Given the description of an element on the screen output the (x, y) to click on. 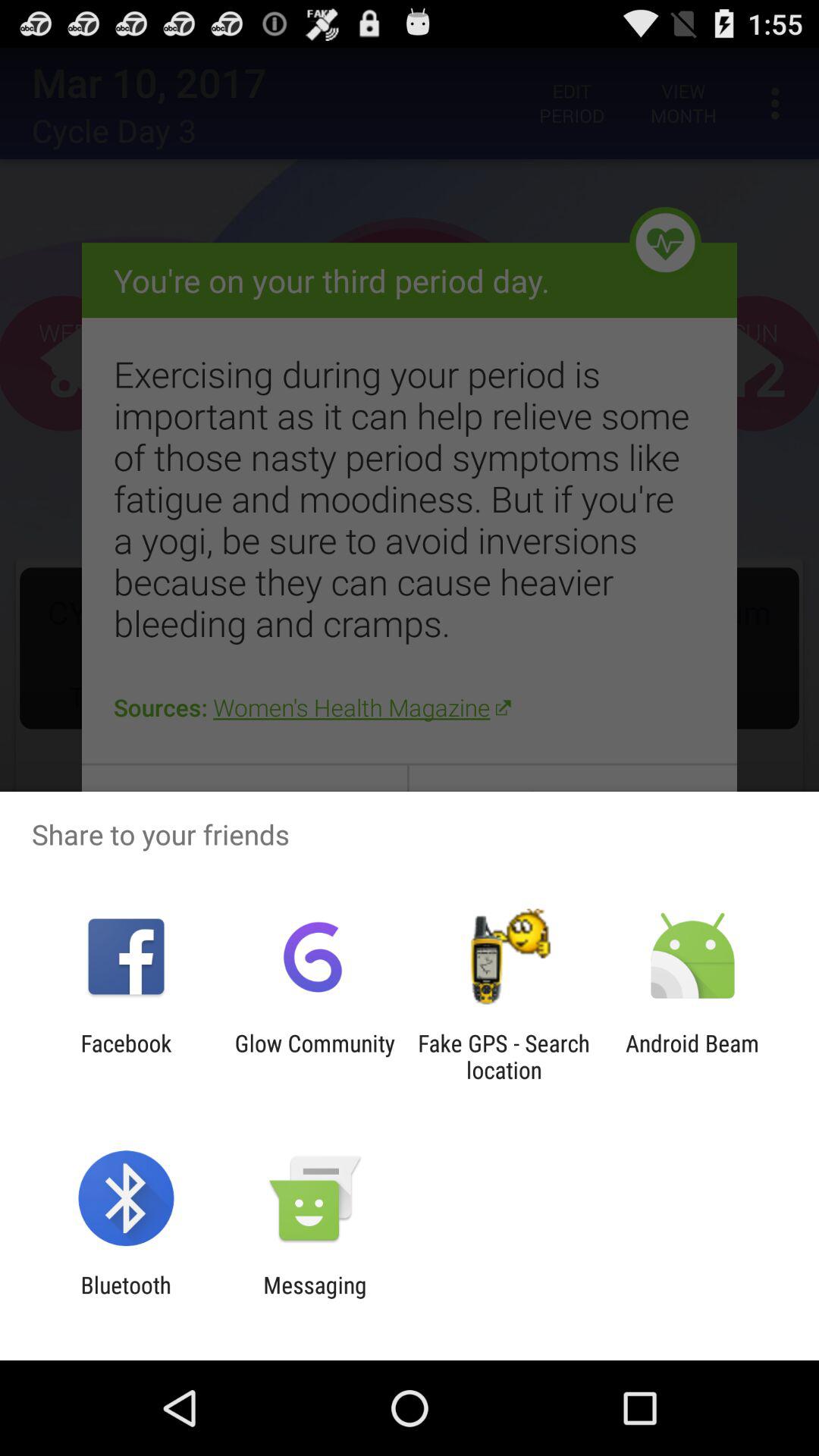
open item to the right of bluetooth item (314, 1298)
